Given the description of an element on the screen output the (x, y) to click on. 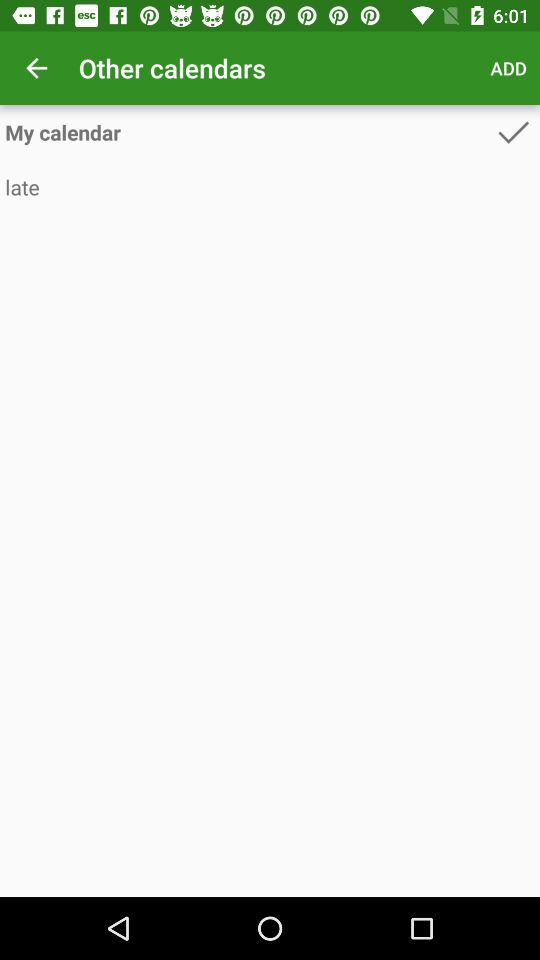
choose the item above the late icon (513, 132)
